Given the description of an element on the screen output the (x, y) to click on. 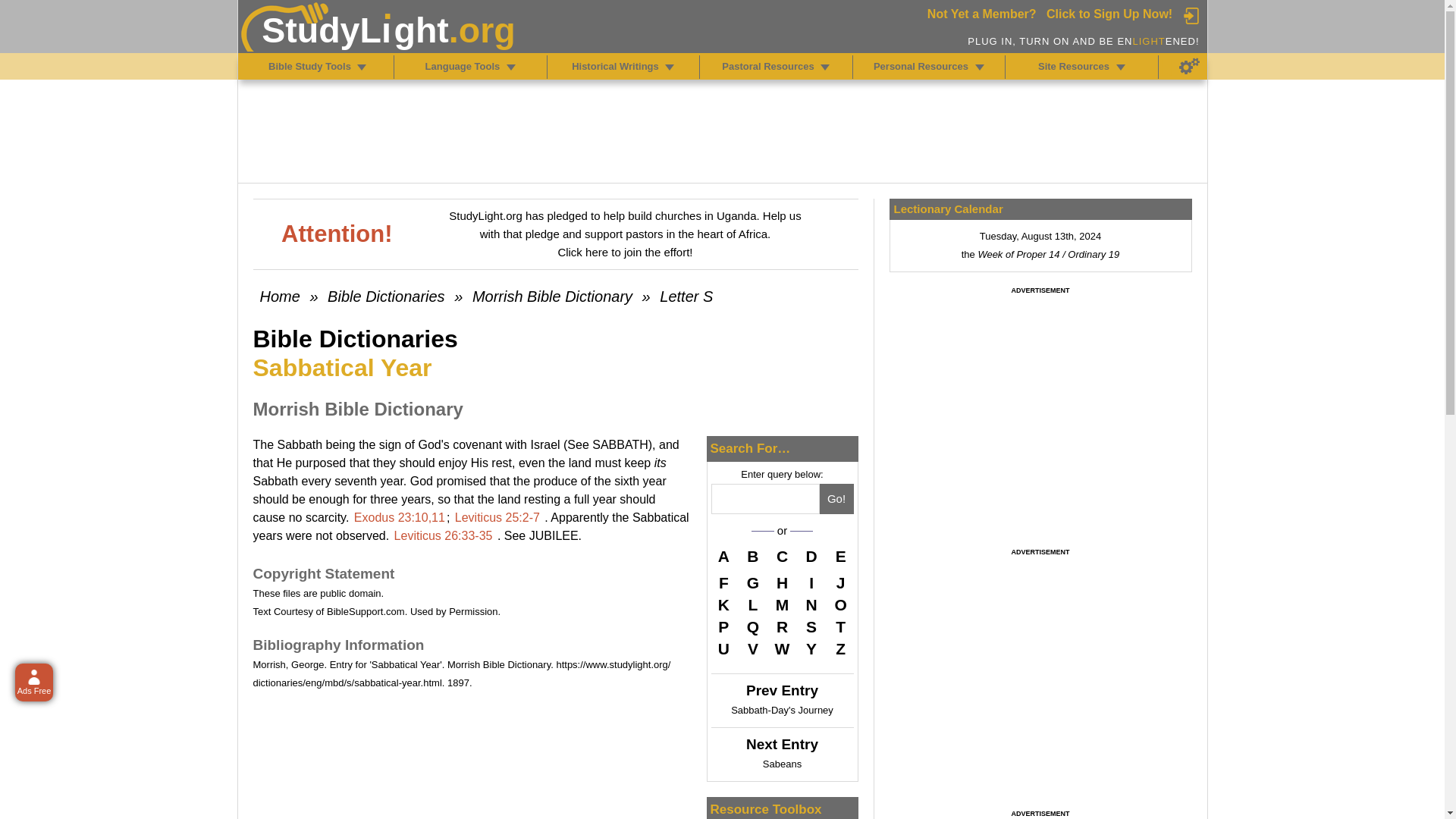
N (810, 605)
Language Tools (510, 67)
I (810, 583)
U (723, 648)
Personal Resources (979, 67)
Z (840, 648)
L (752, 605)
C (782, 558)
Y (810, 648)
G (752, 583)
